Given the description of an element on the screen output the (x, y) to click on. 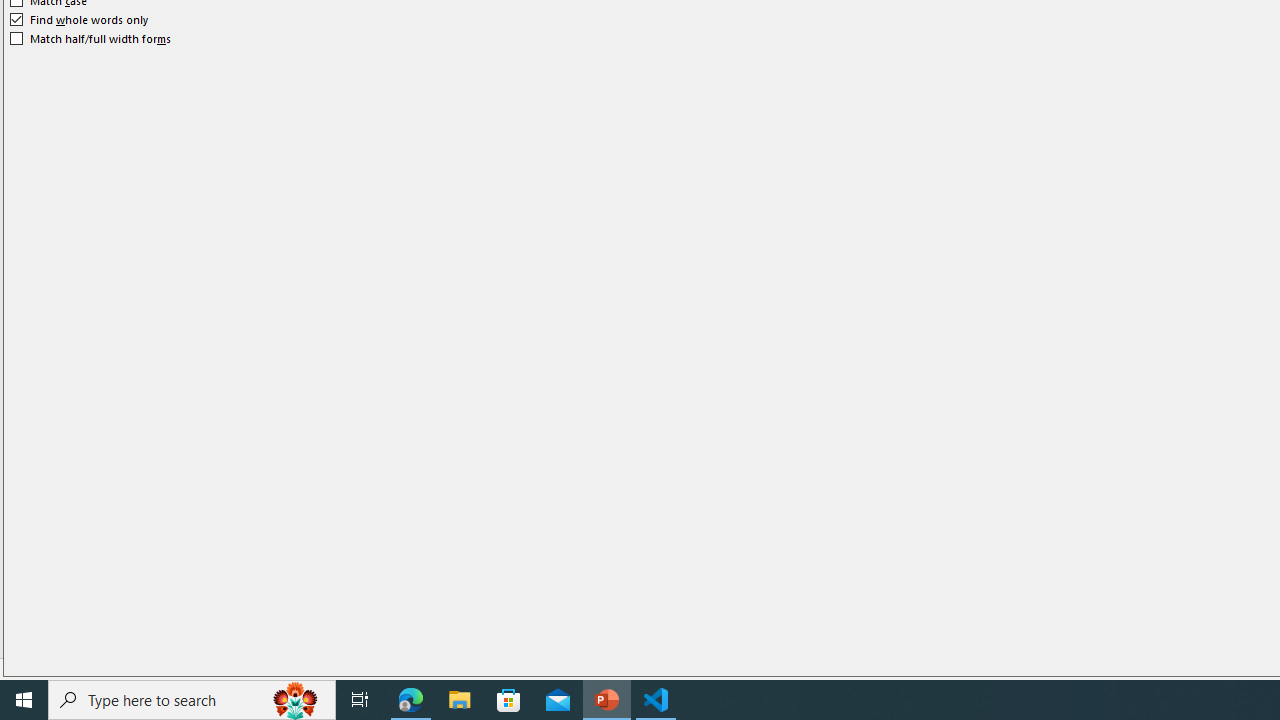
Find whole words only (79, 20)
Match half/full width forms (91, 38)
